Given the description of an element on the screen output the (x, y) to click on. 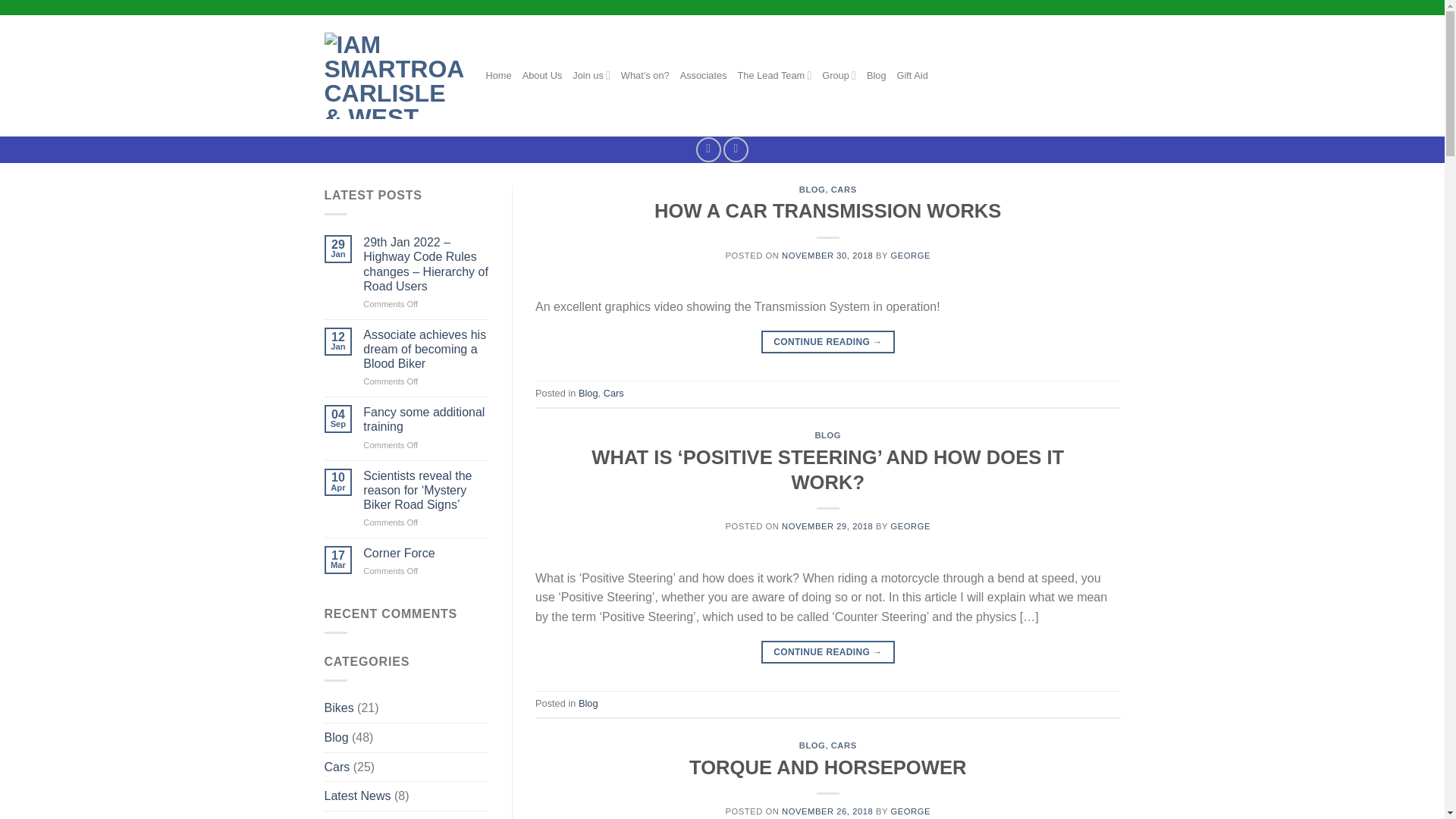
The Lead Team (775, 75)
Gift Aid (912, 75)
Bikes (338, 707)
Associate achieves his dream of becoming a Blood Biker (425, 349)
Cars (337, 767)
Fancy some additional training (425, 419)
Associate achieves his dream of becoming a Blood Biker (425, 349)
Corner Force (425, 553)
Team Member (362, 815)
Join us (591, 75)
